Given the description of an element on the screen output the (x, y) to click on. 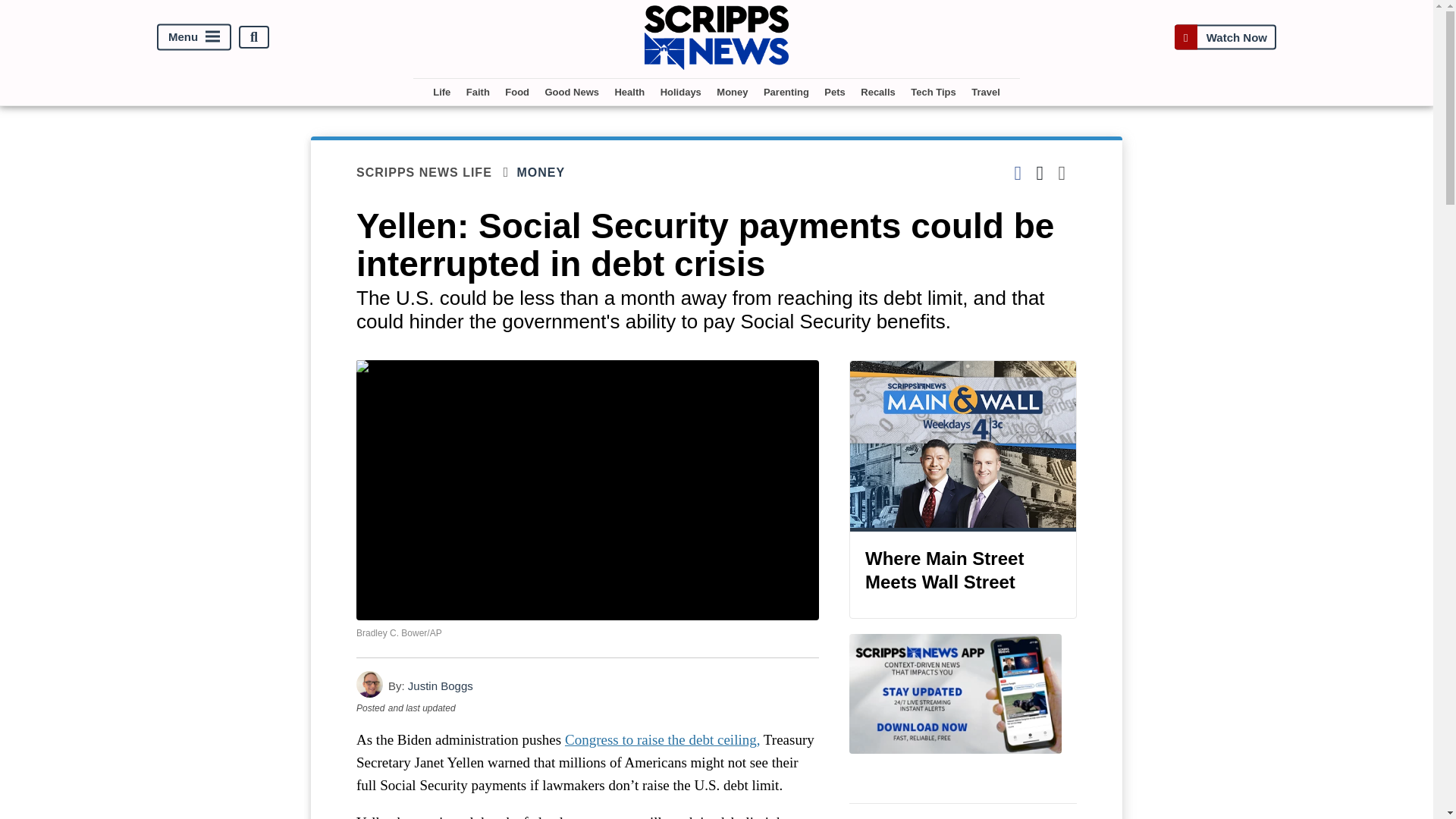
Faith (478, 91)
Watch Now (1224, 37)
Menu (194, 37)
Good News (571, 91)
Life (441, 91)
Food (517, 91)
